Given the description of an element on the screen output the (x, y) to click on. 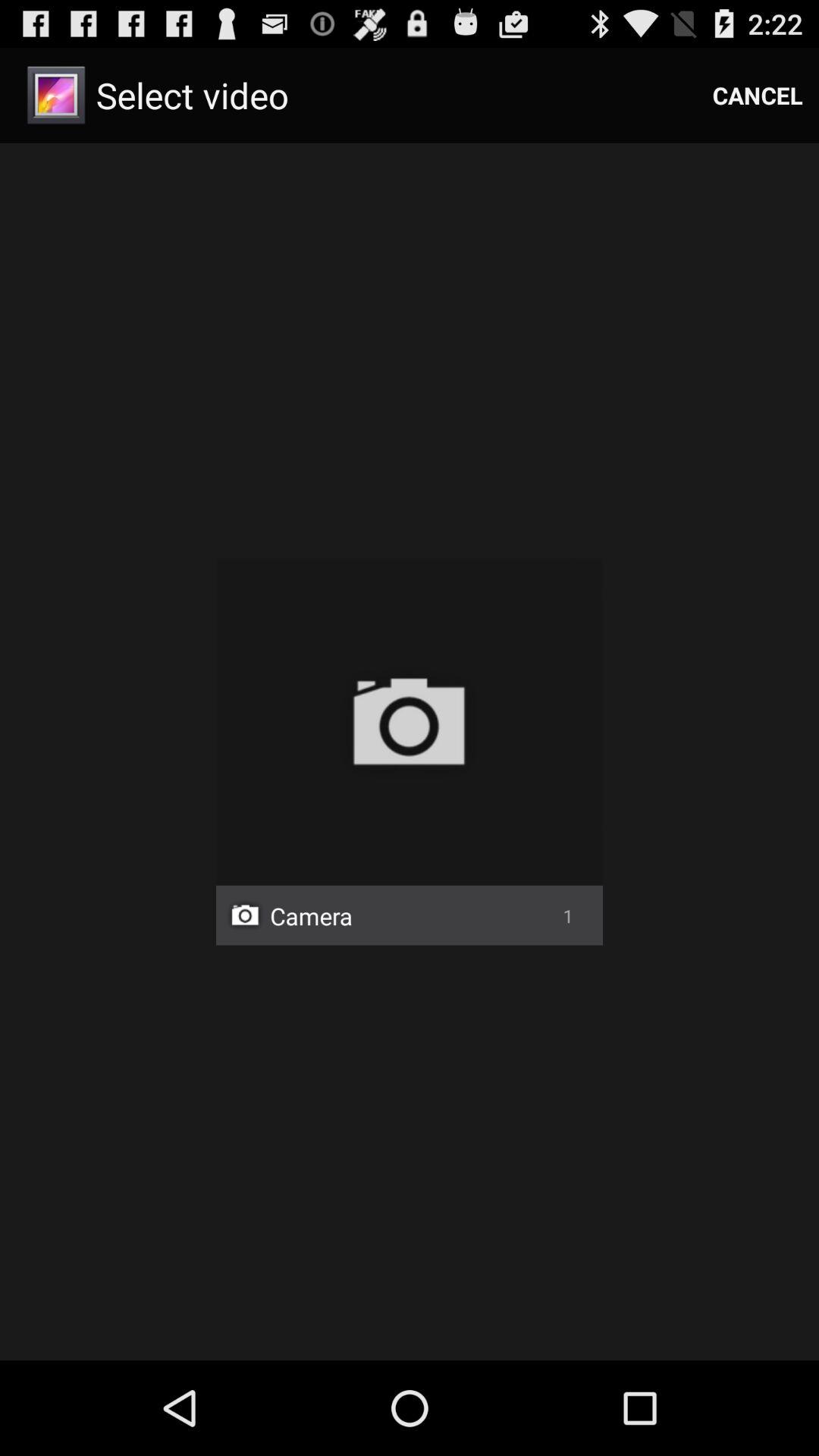
tap the icon next to the select video icon (757, 95)
